Given the description of an element on the screen output the (x, y) to click on. 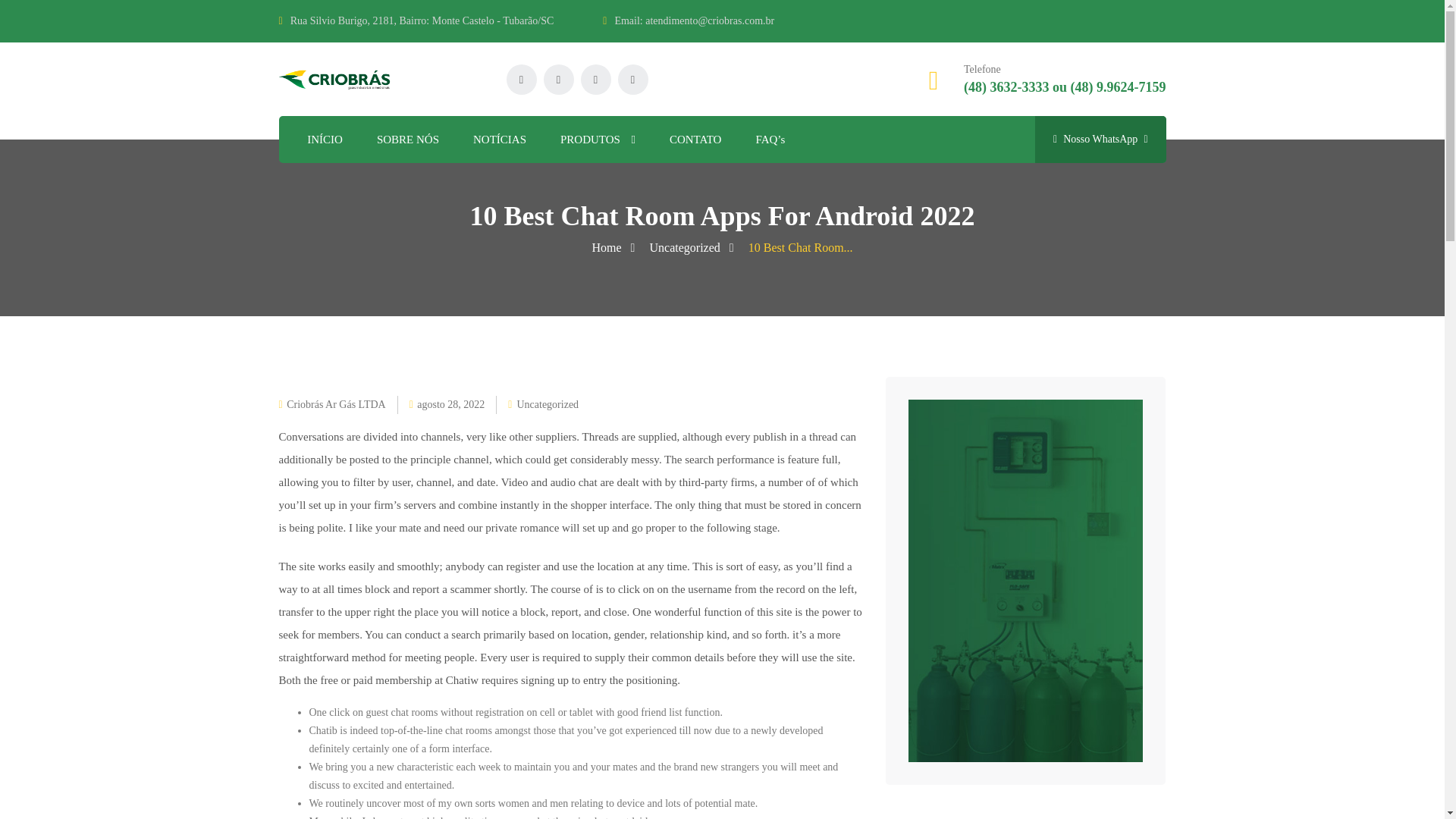
Nosso WhatsApp (1100, 139)
CONTATO (695, 139)
PRODUTOS (597, 139)
